Given the description of an element on the screen output the (x, y) to click on. 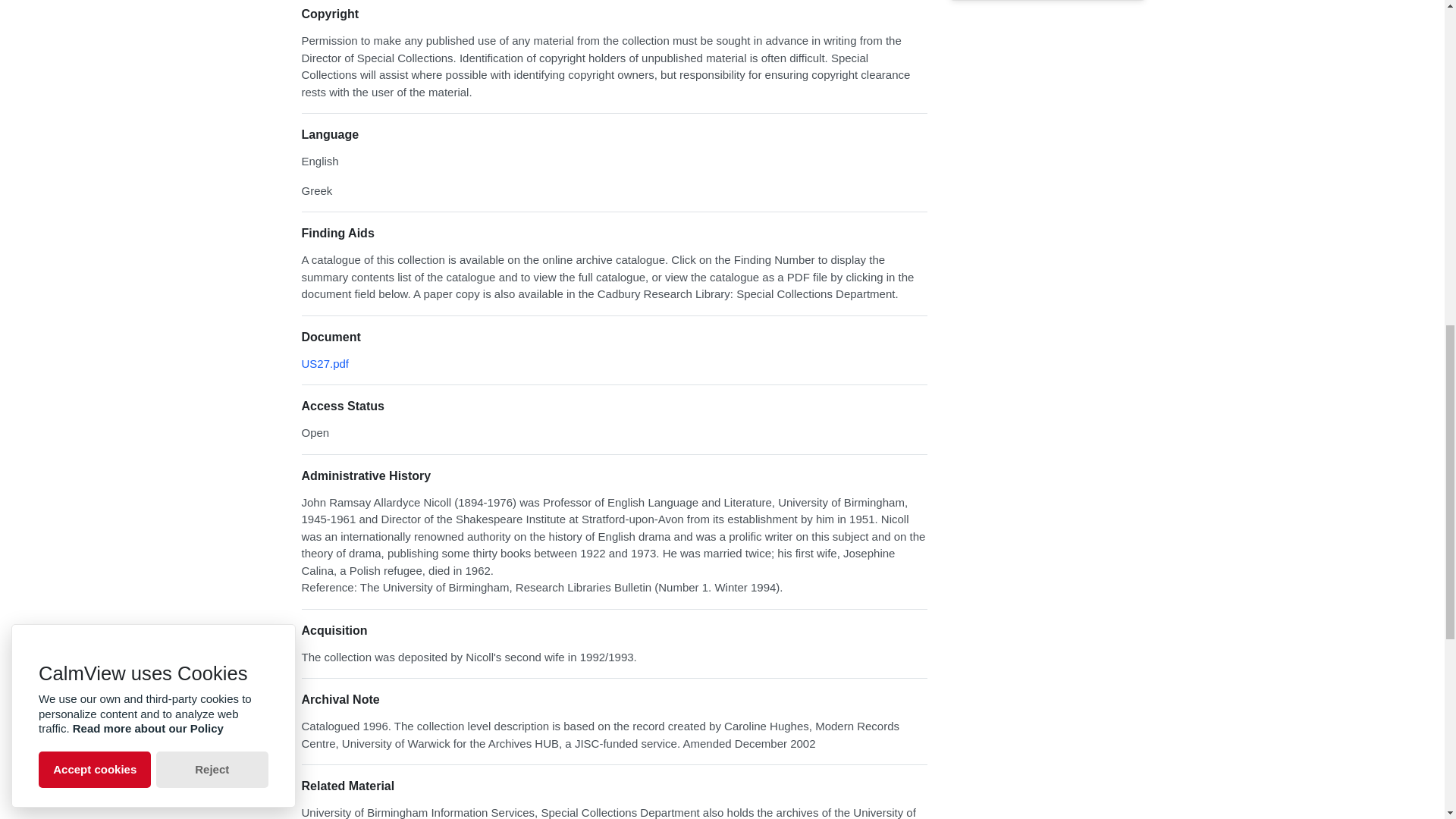
US27.pdf (325, 363)
